Given the description of an element on the screen output the (x, y) to click on. 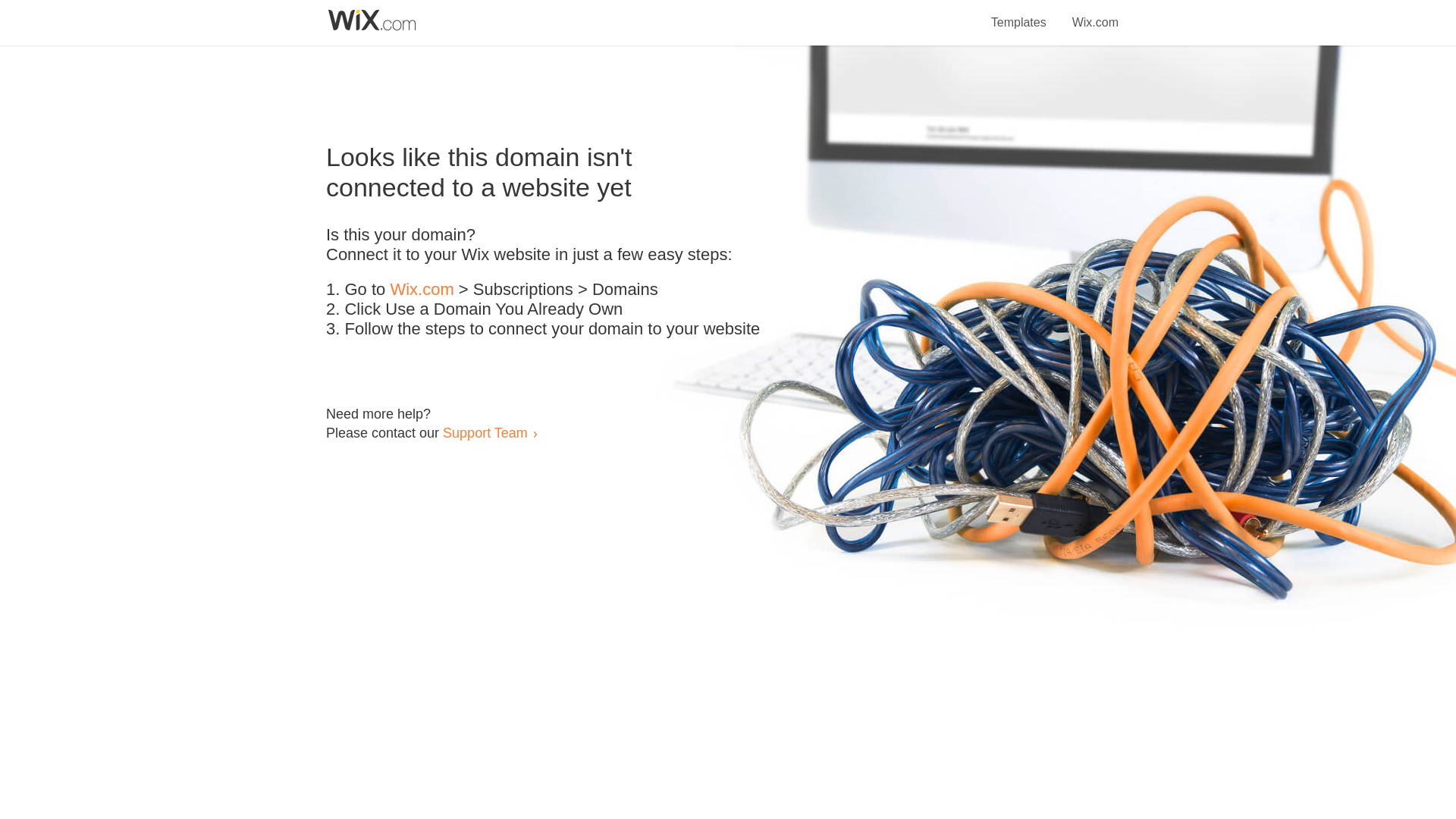
Wix.com (421, 289)
Wix.com (1095, 14)
Templates (1018, 14)
Support Team (484, 432)
